Given the description of an element on the screen output the (x, y) to click on. 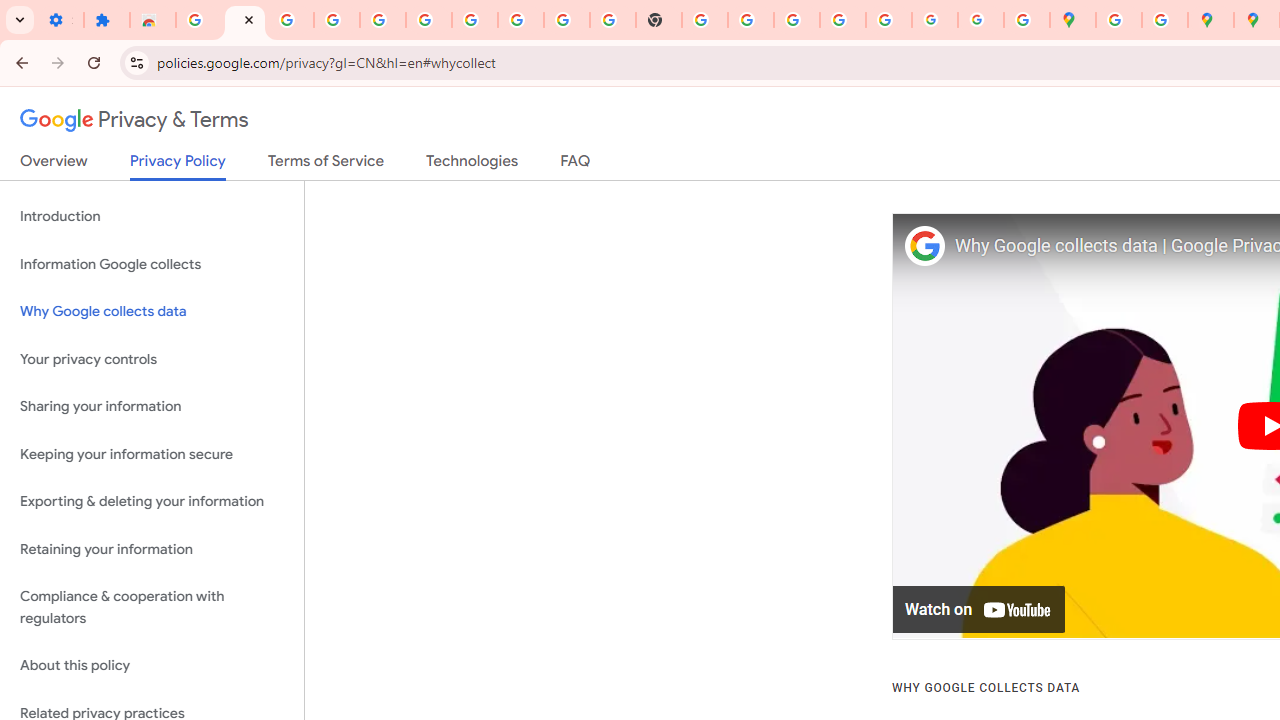
Sharing your information (152, 407)
Your privacy controls (152, 358)
Delete photos & videos - Computer - Google Photos Help (290, 20)
Retaining your information (152, 548)
New Tab (659, 20)
Sign in - Google Accounts (428, 20)
